Given the description of an element on the screen output the (x, y) to click on. 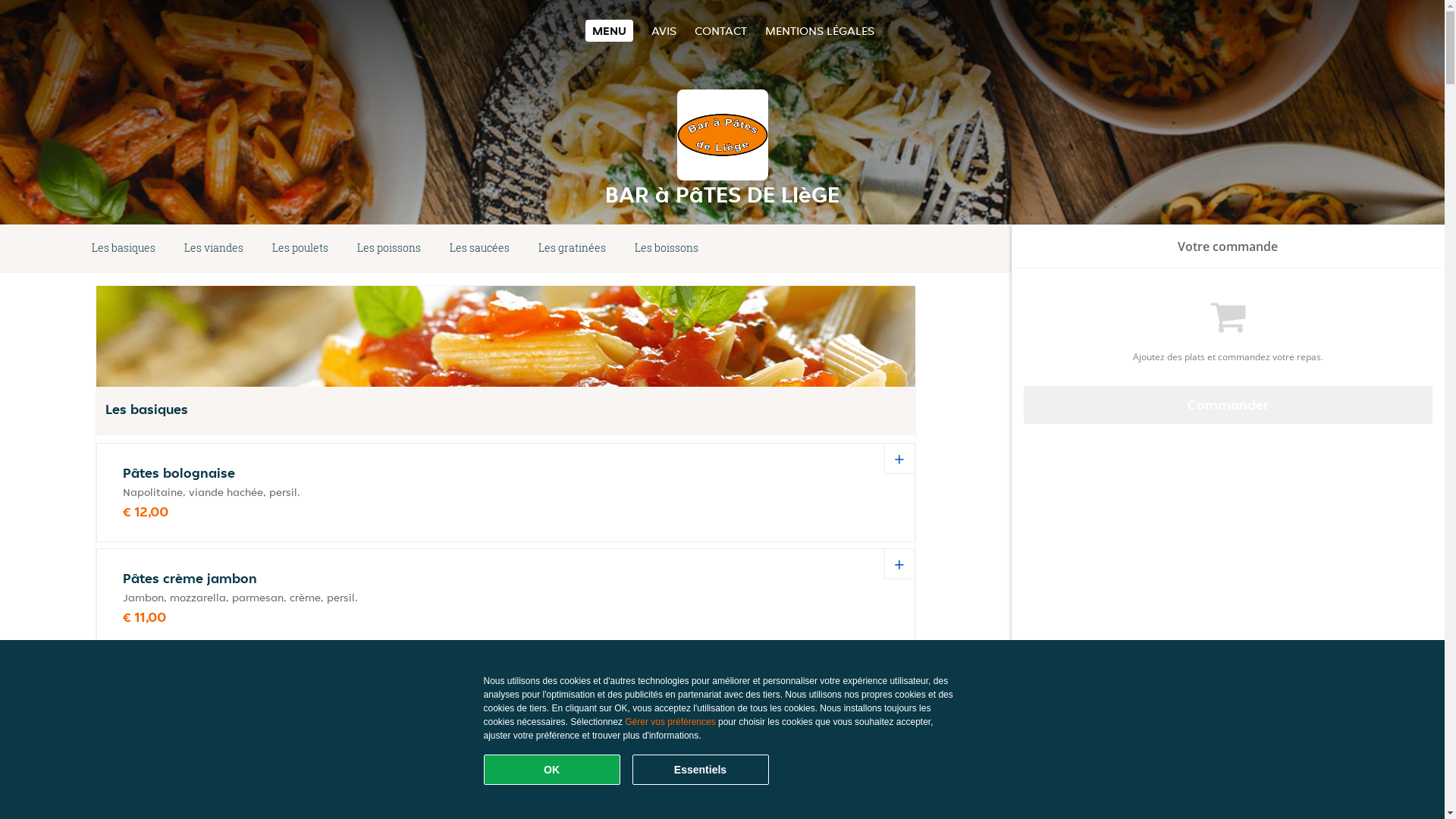
MENU Element type: text (609, 30)
Les poissons Element type: text (388, 248)
Les poulets Element type: text (299, 248)
Commander Element type: text (1228, 404)
CONTACT Element type: text (720, 30)
Les basiques Element type: text (123, 248)
Les boissons Element type: text (666, 248)
AVIS Element type: text (663, 30)
Les viandes Element type: text (213, 248)
Essentiels Element type: text (700, 769)
OK Element type: text (551, 769)
